Given the description of an element on the screen output the (x, y) to click on. 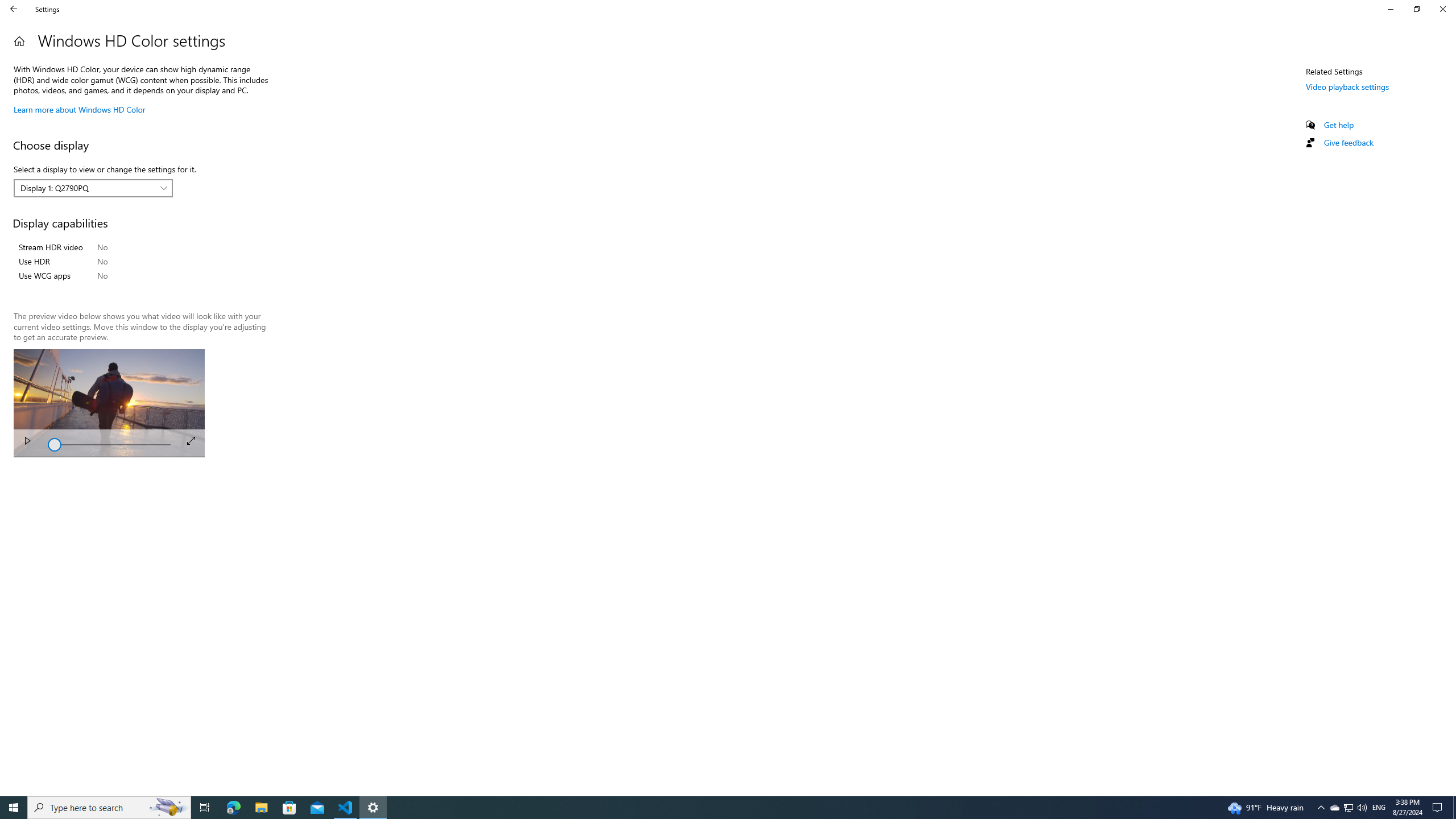
Seek (109, 443)
Running applications (706, 807)
Tray Input Indicator - English (United States) (1378, 807)
Display 1: Q2790PQ (87, 187)
Select a display to view or change the settings for it. (93, 188)
Video playback settings (1347, 86)
Give feedback (1348, 142)
